Given the description of an element on the screen output the (x, y) to click on. 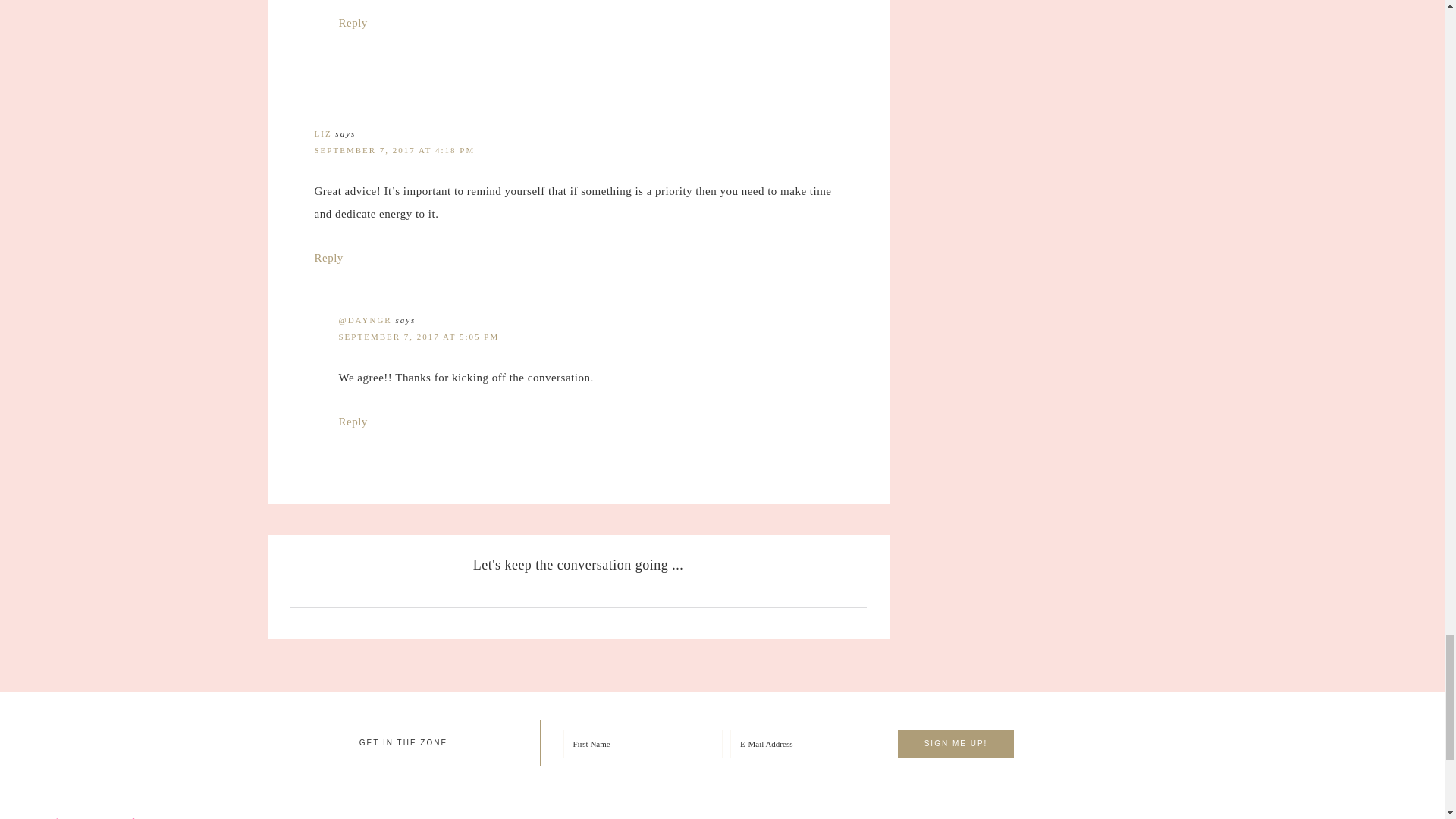
Sign me up! (956, 743)
